Given the description of an element on the screen output the (x, y) to click on. 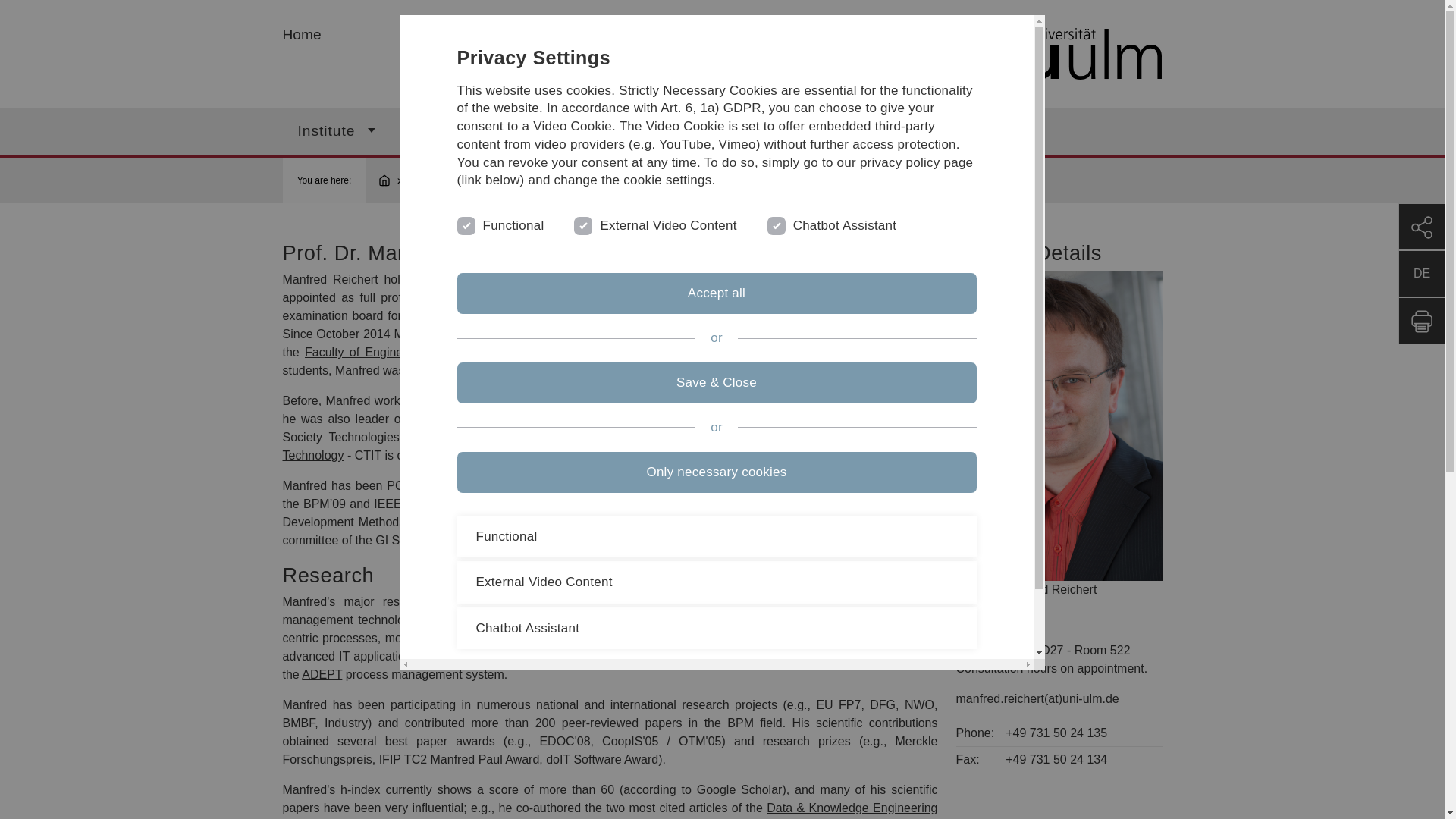
Skip to main navigation (740, 5)
chatbot (775, 224)
Share (1421, 226)
Home (390, 180)
Zeige Seite auf Deutsch (1421, 273)
Home (945, 53)
Print this page (1421, 320)
Search (827, 130)
Home (301, 34)
external (581, 224)
essential (464, 224)
